Given the description of an element on the screen output the (x, y) to click on. 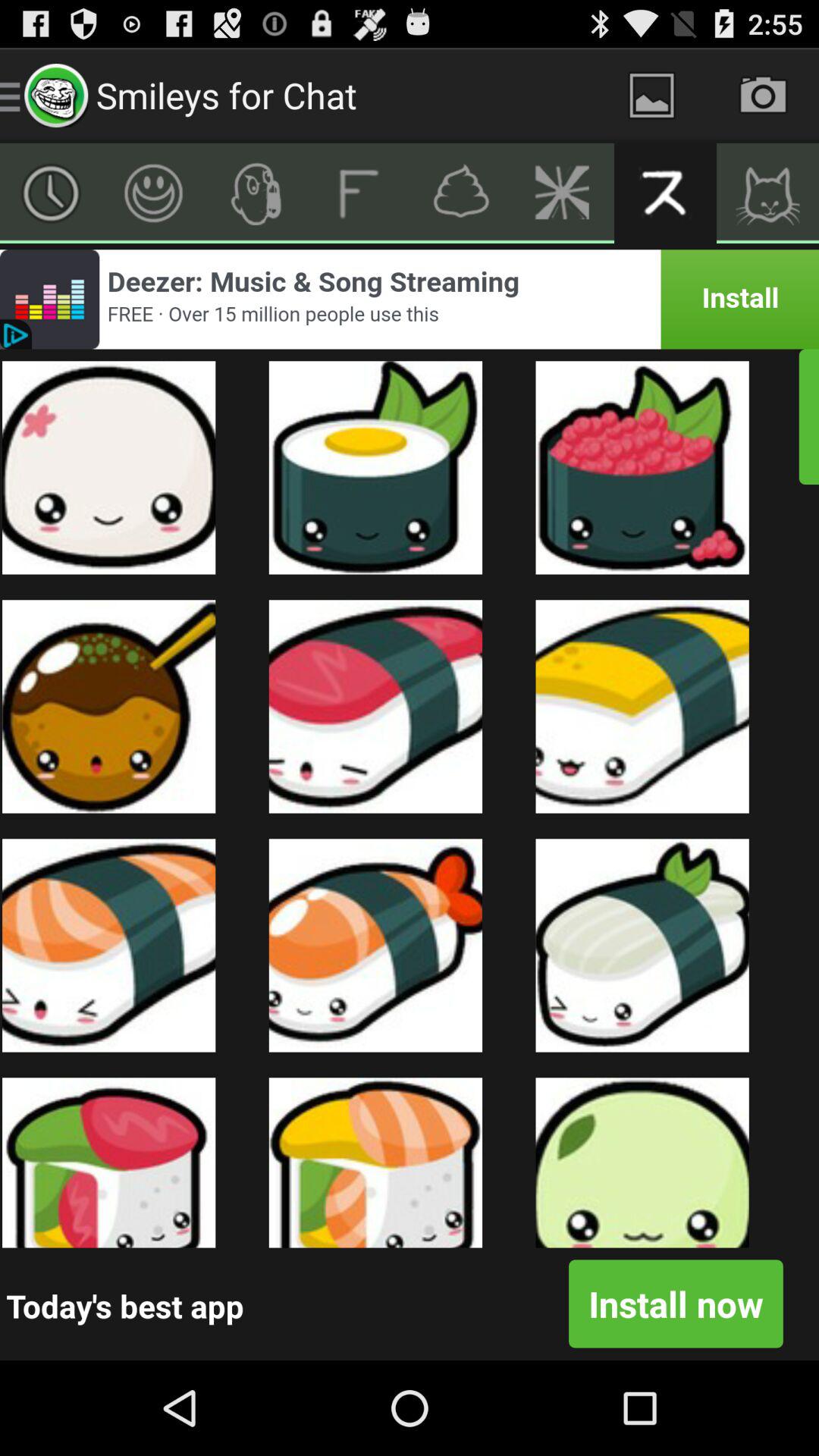
go to advert (409, 299)
